Given the description of an element on the screen output the (x, y) to click on. 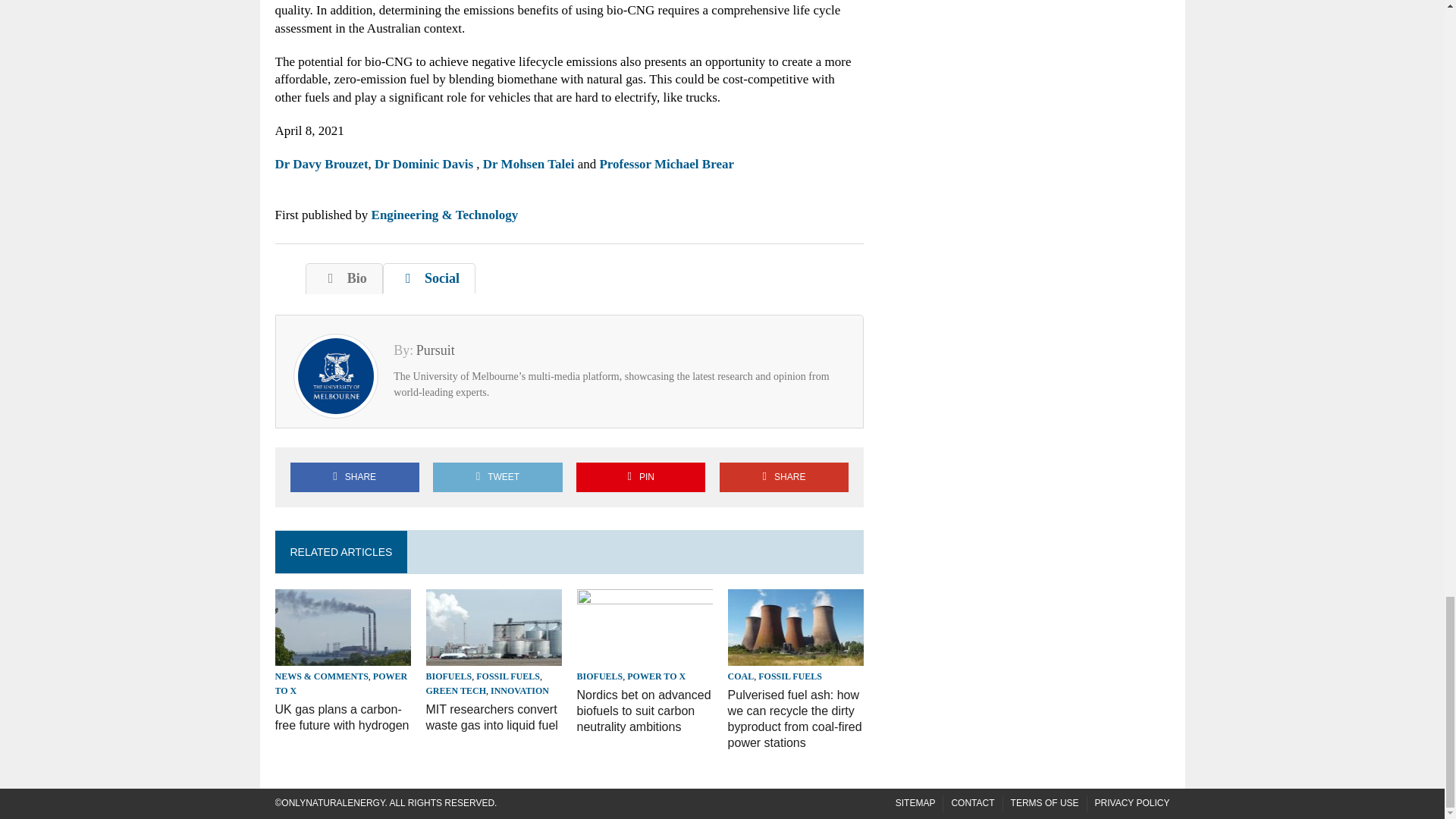
Tweet This Post (497, 477)
Share on Facebook (354, 477)
Pin This Post (640, 477)
